Given the description of an element on the screen output the (x, y) to click on. 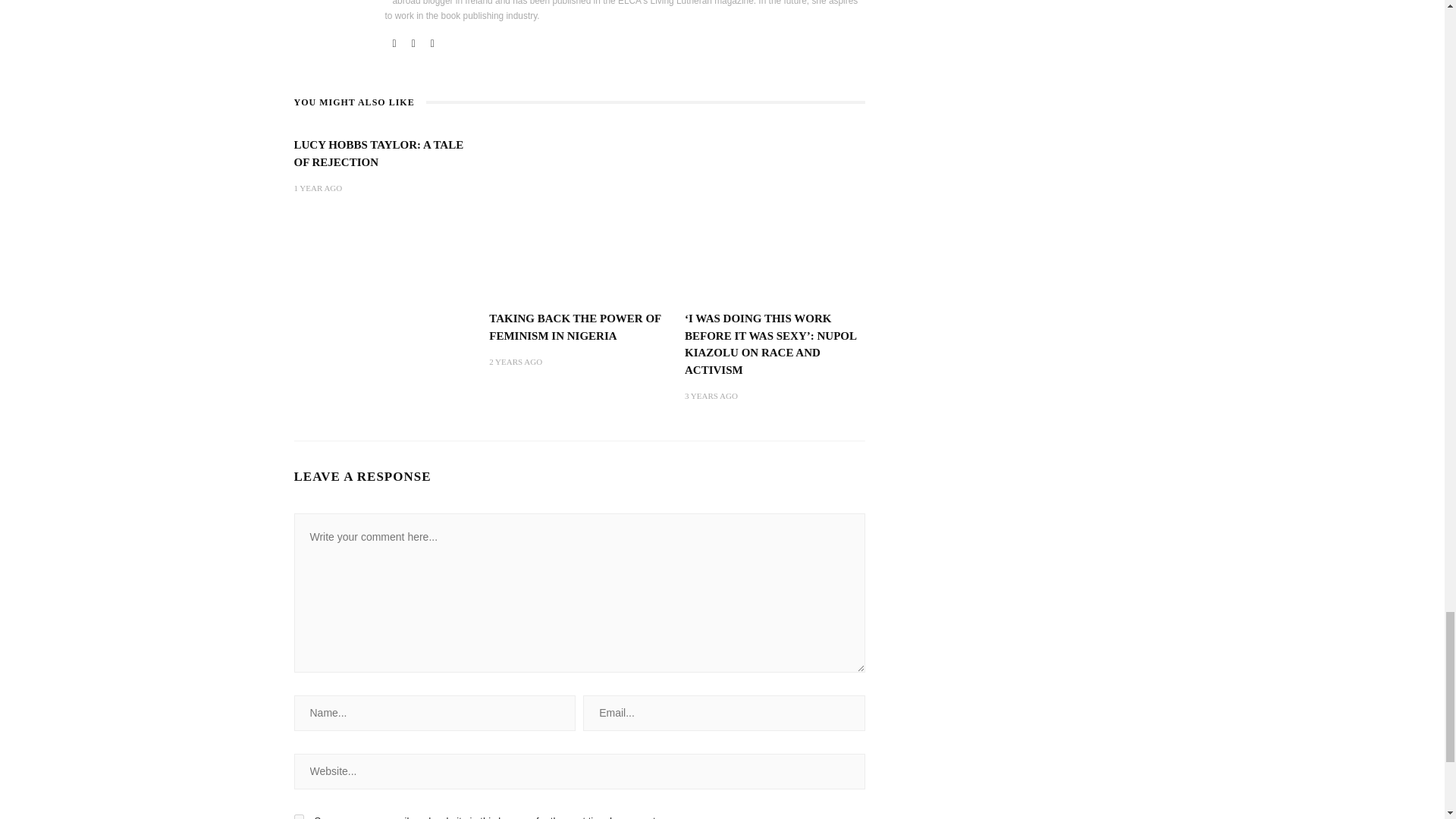
yes (299, 816)
Taking Back The Power Of Feminism In Nigeria (575, 327)
Lucy Hobbs Taylor: A Tale Of Rejection (379, 153)
Taking Back The Power Of Feminism In Nigeria (579, 216)
